Given the description of an element on the screen output the (x, y) to click on. 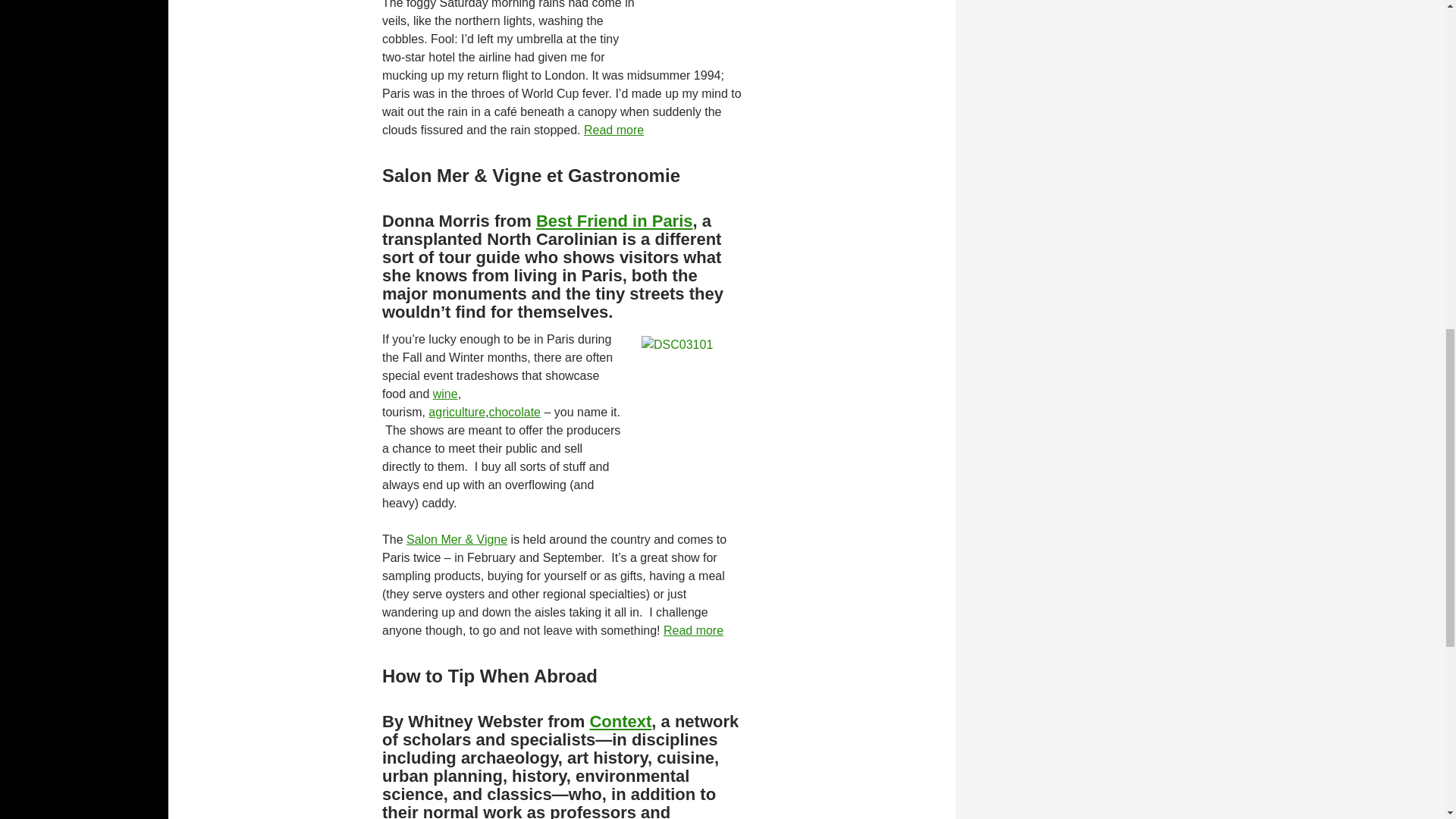
chocolate (513, 410)
Context (619, 720)
Read more (693, 629)
Read more (613, 128)
Best Friend in Paris (614, 220)
agriculture (456, 410)
wine (445, 392)
